Given the description of an element on the screen output the (x, y) to click on. 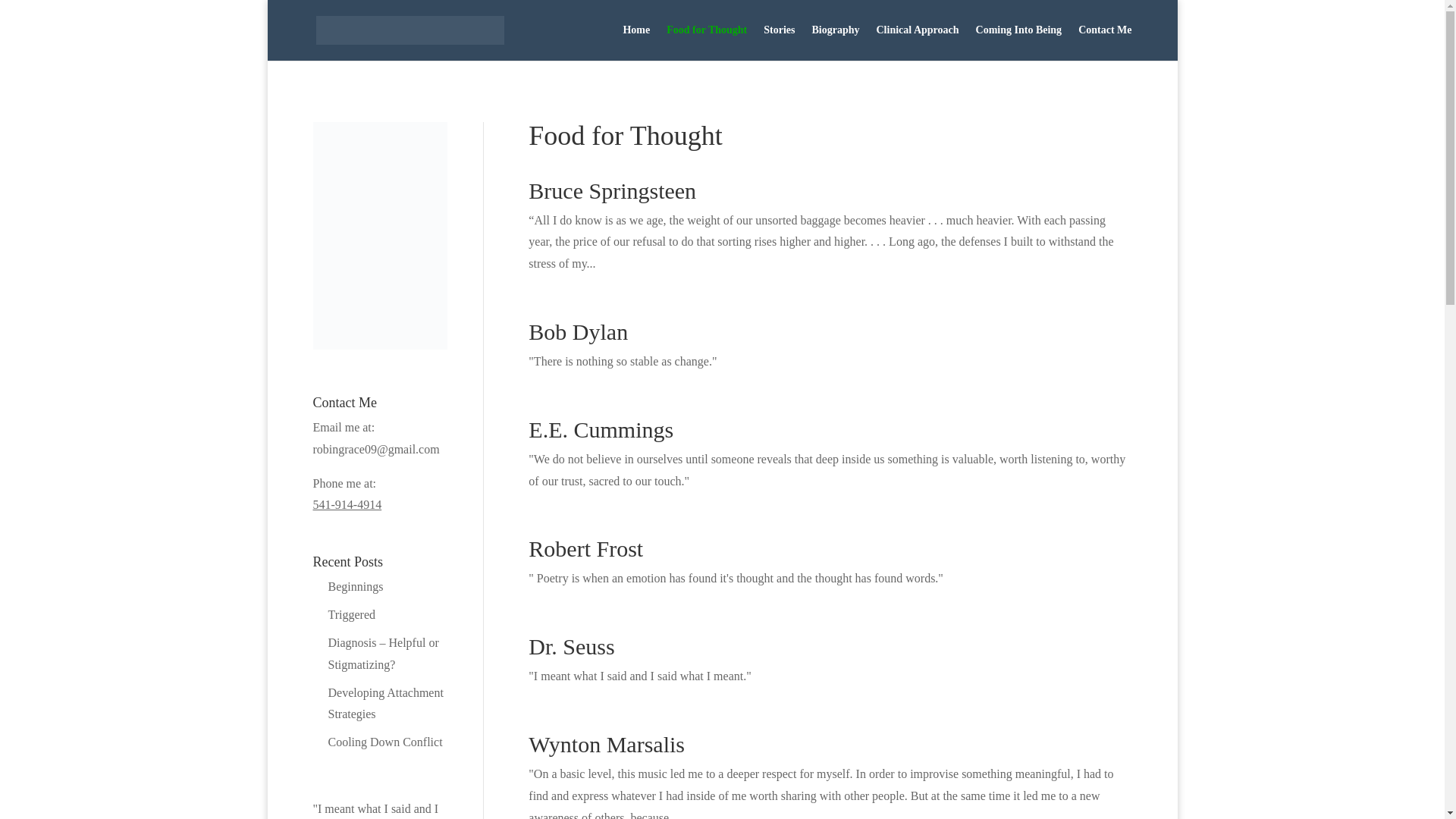
Beginnings (354, 585)
Triggered (351, 614)
Dr. Seuss (571, 646)
Cooling Down Conflict (384, 741)
E.E. Cummings (600, 429)
Bruce Springsteen (611, 190)
Contact Me (1104, 42)
Bob Dylan (577, 331)
Developing Attachment Strategies (384, 703)
Clinical Approach (917, 42)
